Given the description of an element on the screen output the (x, y) to click on. 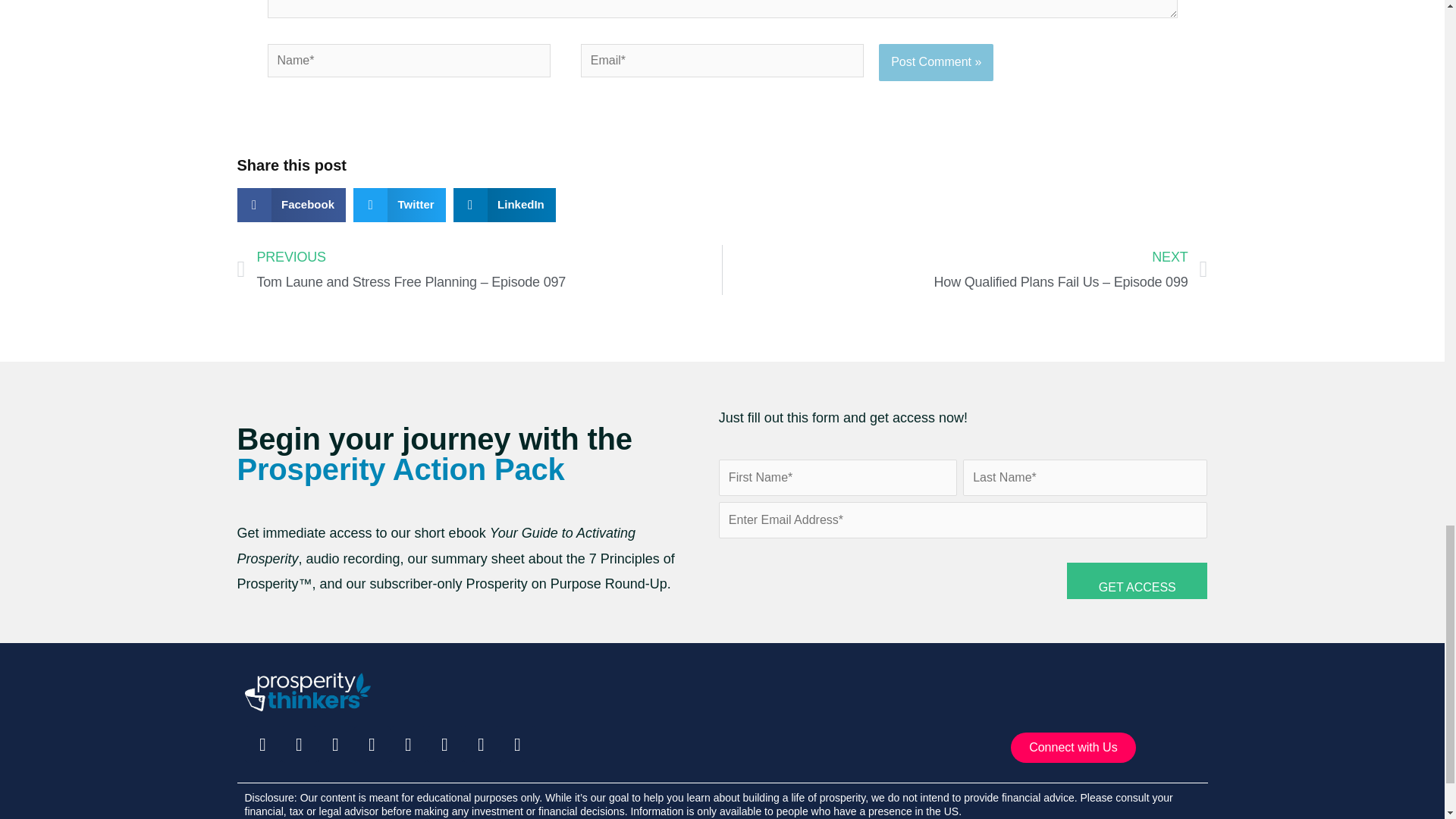
GET ACCESS (1137, 580)
